Given the description of an element on the screen output the (x, y) to click on. 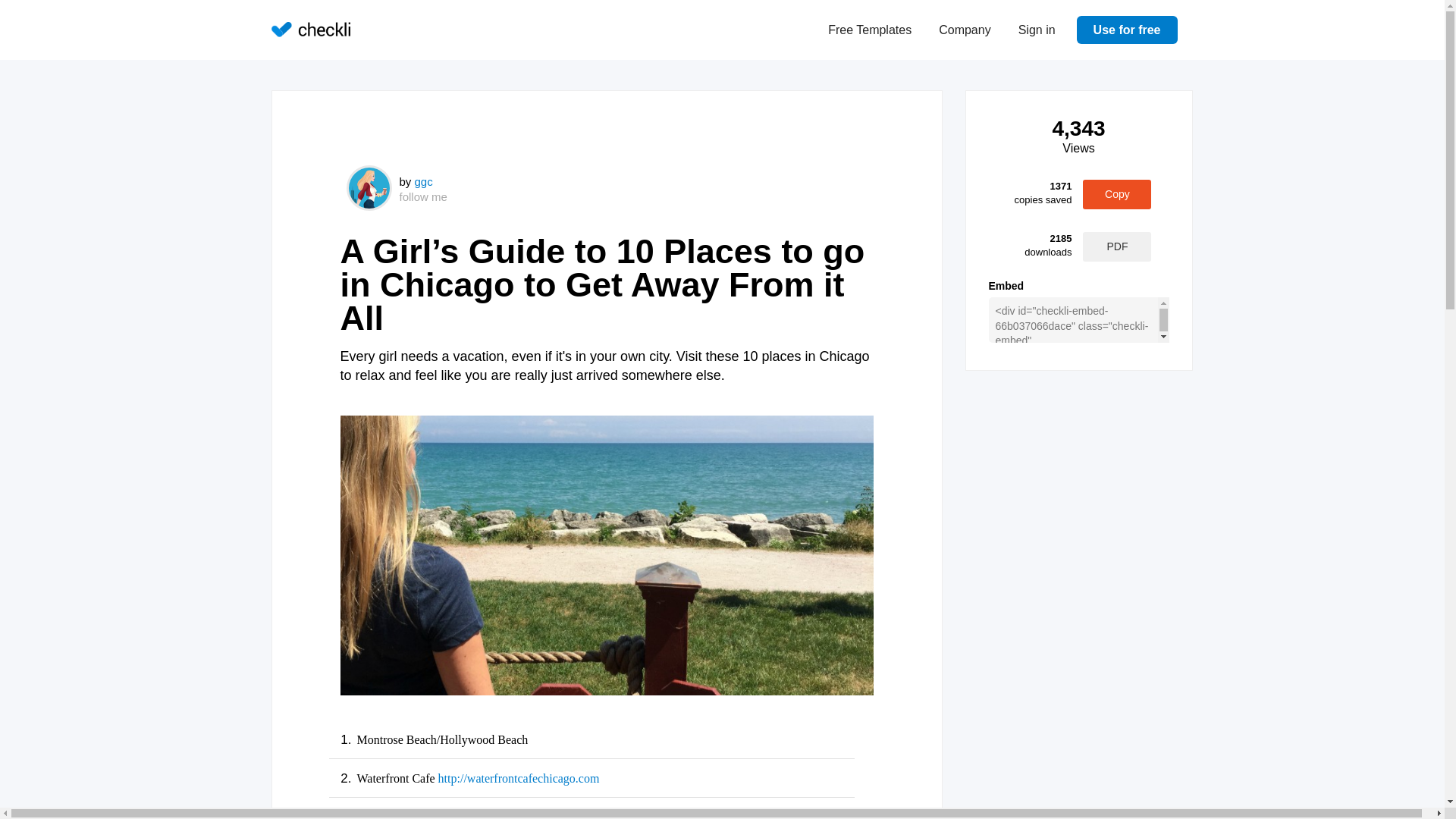
Free Templates (868, 29)
Sign in (1036, 29)
Use for free (1127, 29)
Save a copy of this checklist (1117, 194)
Company (964, 29)
Save a copy of this checklist (1117, 246)
